Given the description of an element on the screen output the (x, y) to click on. 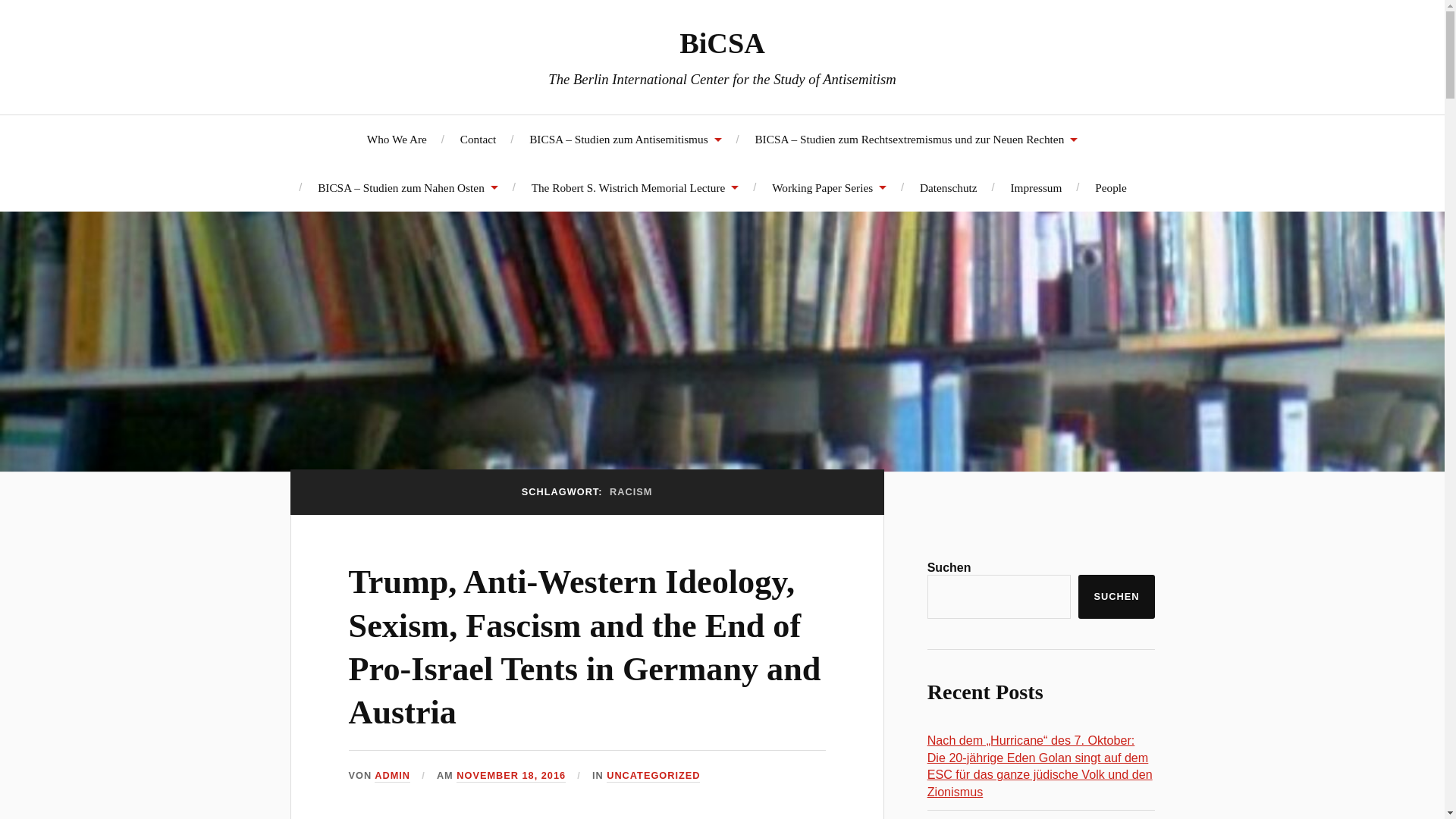
BiCSA (722, 42)
